Given the description of an element on the screen output the (x, y) to click on. 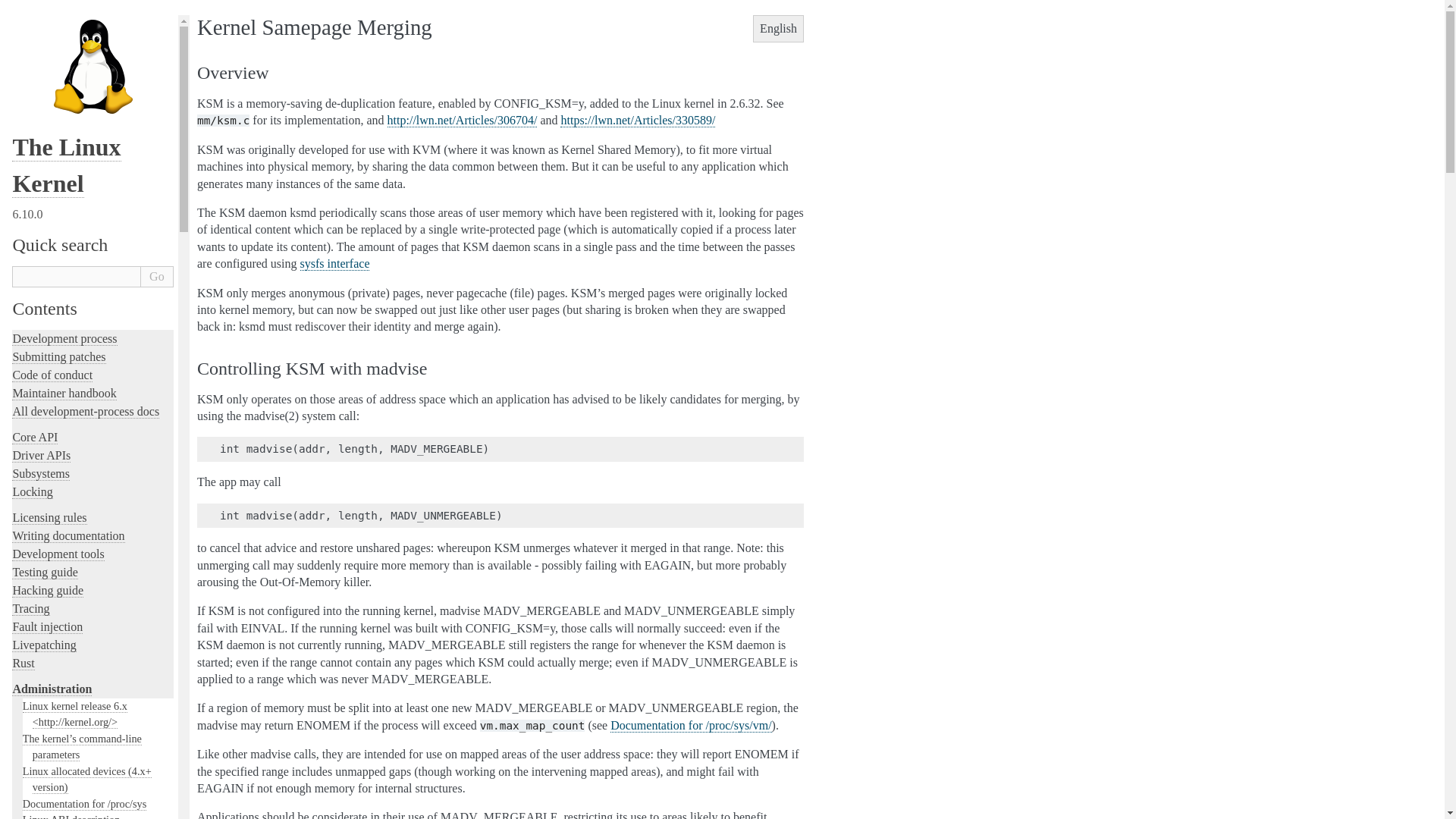
Rust (22, 663)
Licensing rules (48, 517)
Livepatching (43, 644)
Fault injection (46, 626)
Subsystems (40, 473)
Testing guide (44, 572)
Writing documentation (67, 535)
Submitting patches (57, 356)
Development tools (57, 554)
Tracing (30, 608)
